Given the description of an element on the screen output the (x, y) to click on. 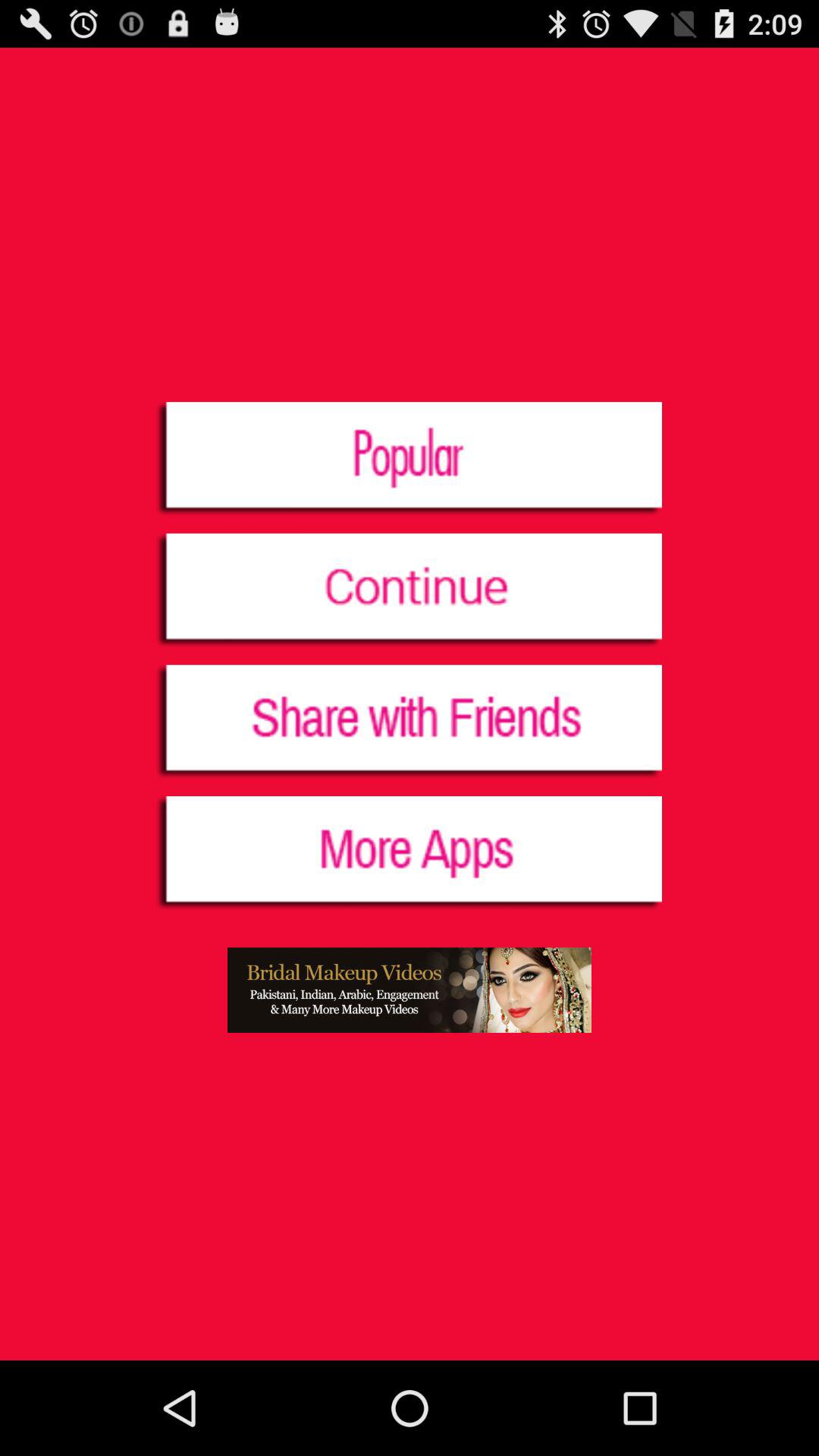
more apps (409, 853)
